Given the description of an element on the screen output the (x, y) to click on. 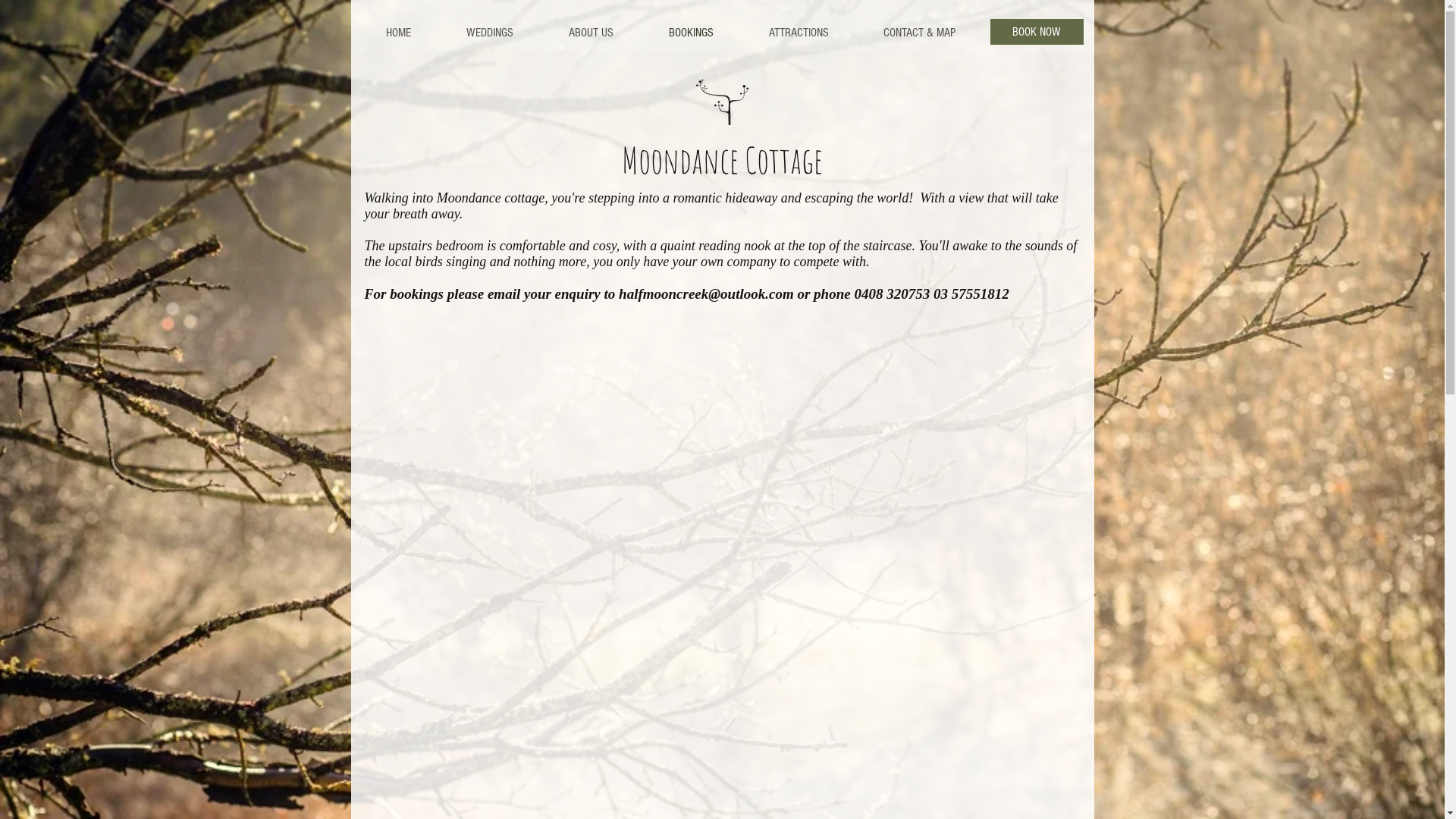
BOOK NOW Element type: text (1036, 31)
ATTRACTIONS Element type: text (797, 32)
HOME Element type: text (397, 32)
BOOKINGS Element type: text (690, 32)
CONTACT & MAP Element type: text (918, 32)
ABOUT US Element type: text (589, 32)
halfmooncreek@outlook.com Element type: text (705, 293)
WEDDINGS Element type: text (489, 32)
